Given the description of an element on the screen output the (x, y) to click on. 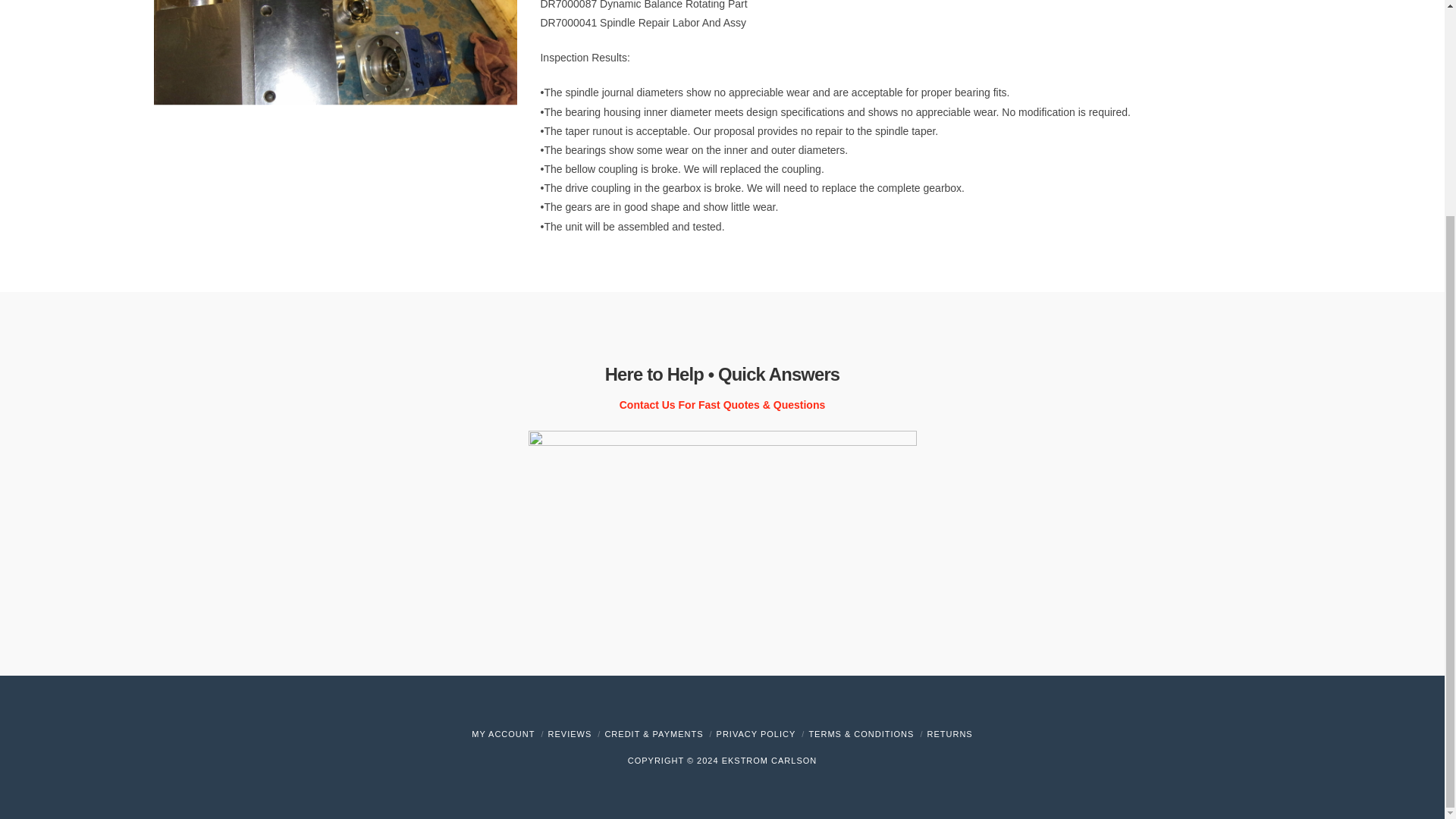
what customers are saying (570, 733)
please read (861, 733)
please read (756, 733)
